Given the description of an element on the screen output the (x, y) to click on. 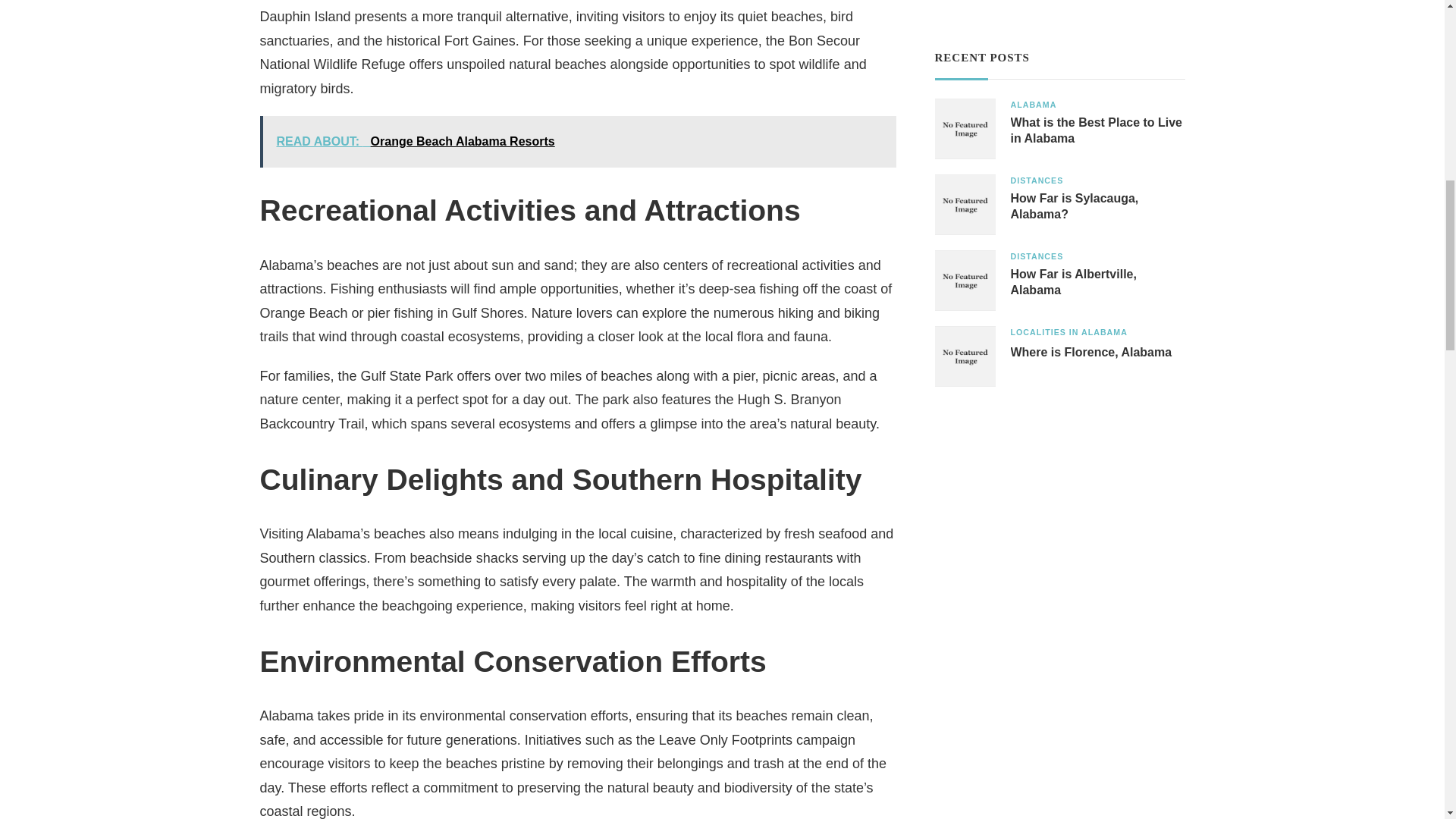
What is the Best Place to Live in Alabama (1097, 131)
DISTANCES (1036, 180)
LOCALITIES IN ALABAMA (1068, 332)
Where is Florence, Alabama (1091, 352)
READ ABOUT:   Orange Beach Alabama Resorts (577, 141)
DISTANCES (1036, 256)
How Far is Albertville, Alabama (1097, 282)
How Far is Sylacauga, Alabama? (1097, 206)
ALABAMA (1033, 104)
